Given the description of an element on the screen output the (x, y) to click on. 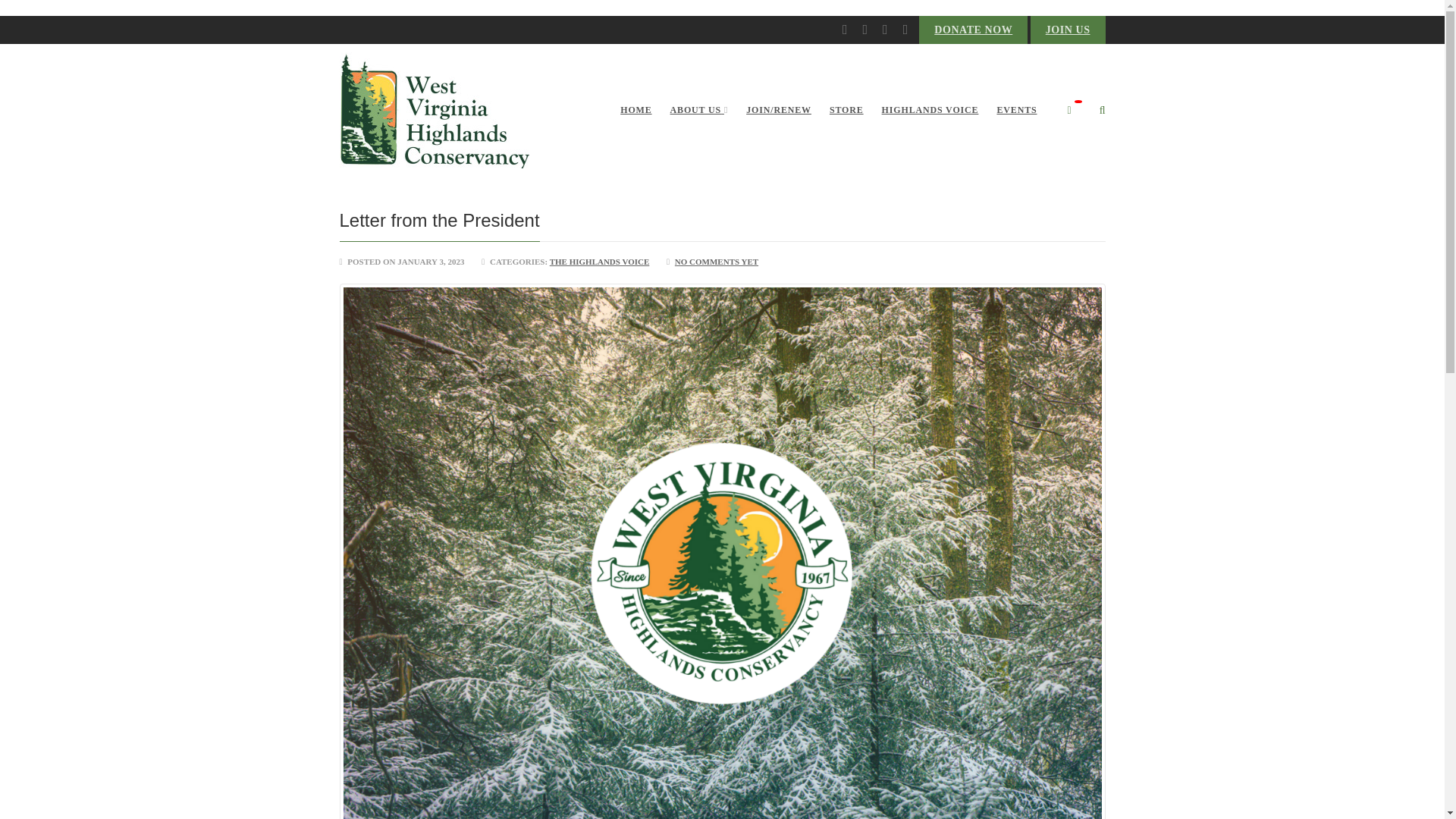
NO COMMENTS YET (716, 261)
JOIN US (1067, 29)
DONATE NOW (972, 29)
West Virginia Highlands Conservancy (434, 110)
THE HIGHLANDS VOICE (599, 261)
